Given the description of an element on the screen output the (x, y) to click on. 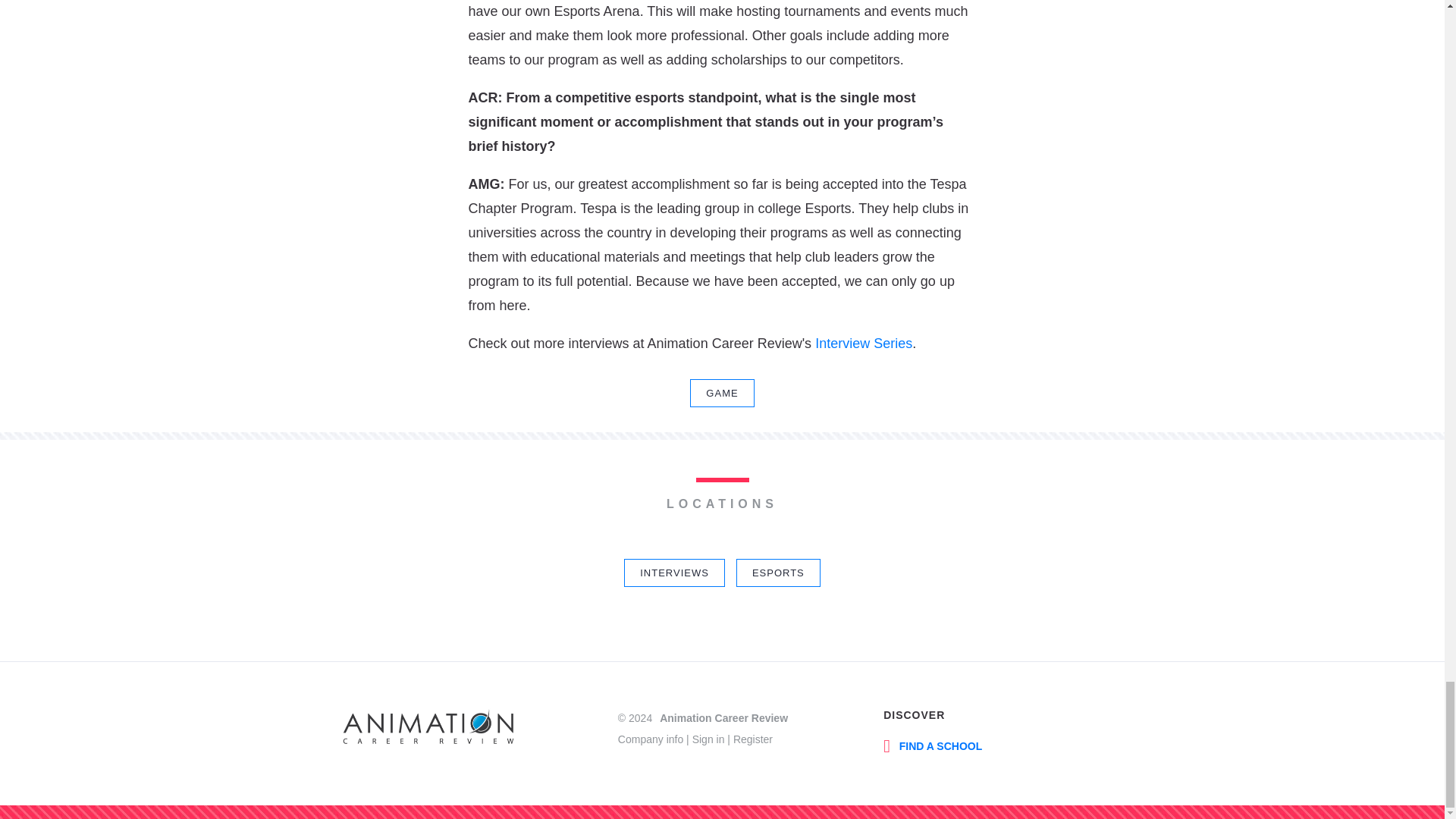
Interview Series (863, 343)
Home (427, 729)
Company info (649, 739)
INTERVIEWS (674, 572)
ESPORTS (778, 572)
Register (753, 739)
GAME (722, 393)
 FIND A SCHOOL (932, 744)
Sign in (709, 739)
